Given the description of an element on the screen output the (x, y) to click on. 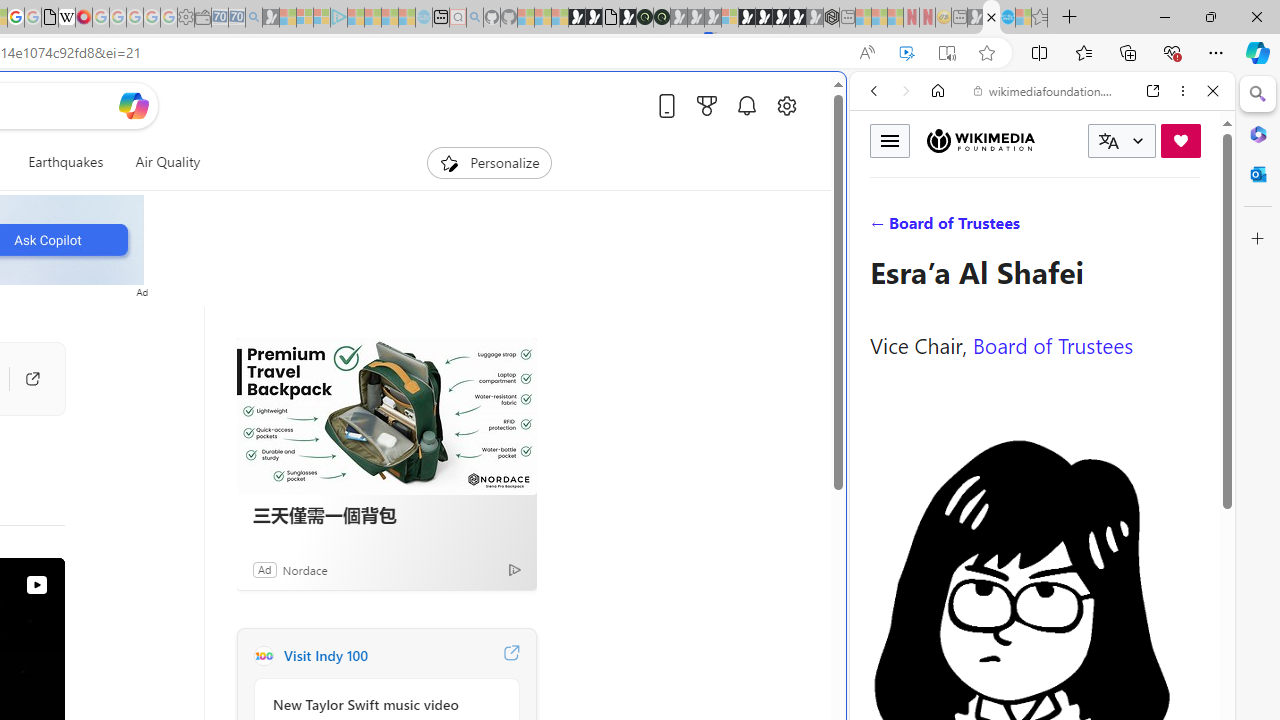
View on Watch (36, 585)
Go to publisher's site (32, 378)
